Given the description of an element on the screen output the (x, y) to click on. 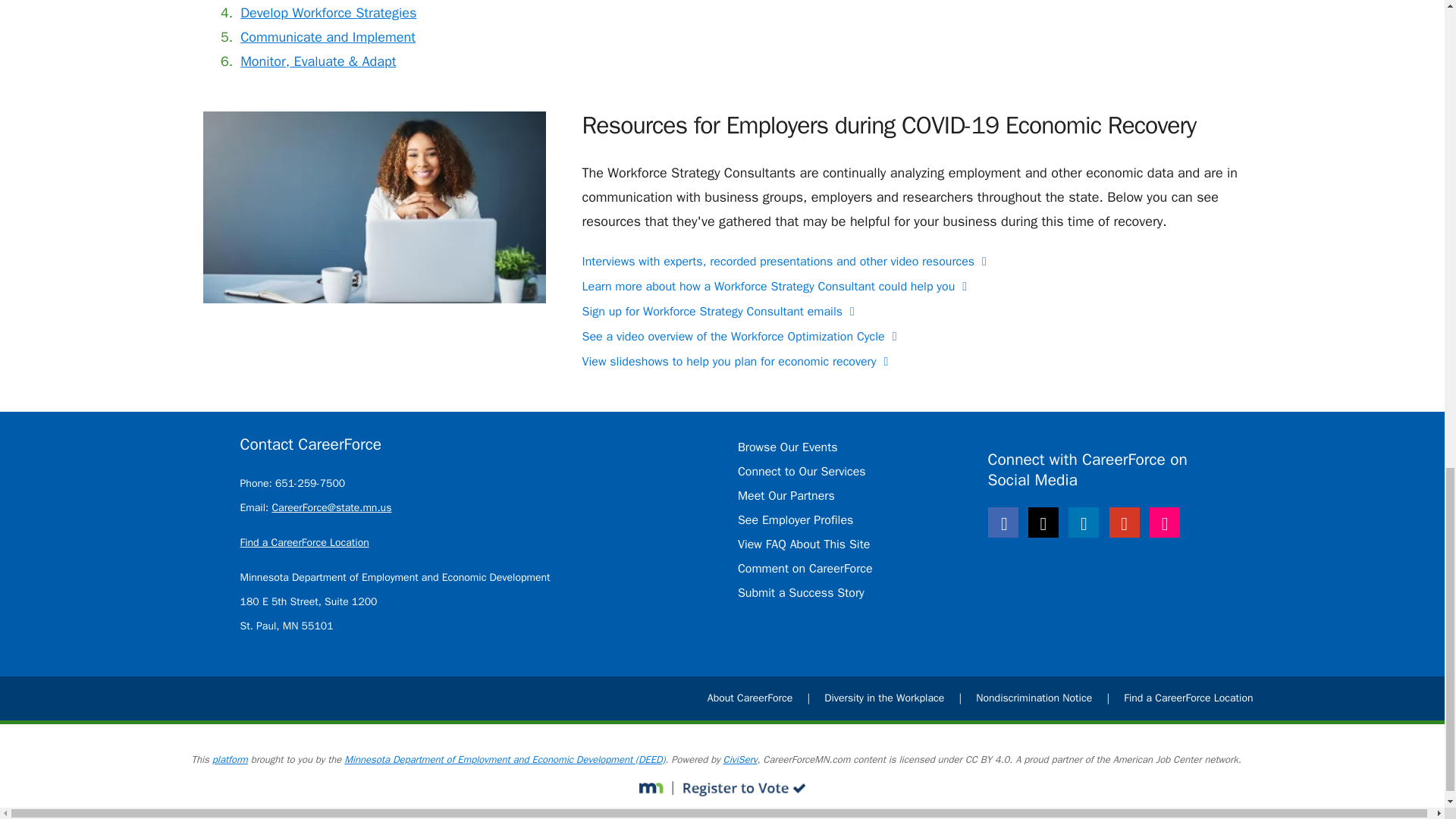
State of Minnesota (740, 788)
FAQ About CareerForceMN.com (803, 544)
State of Minnesota (656, 788)
